Given the description of an element on the screen output the (x, y) to click on. 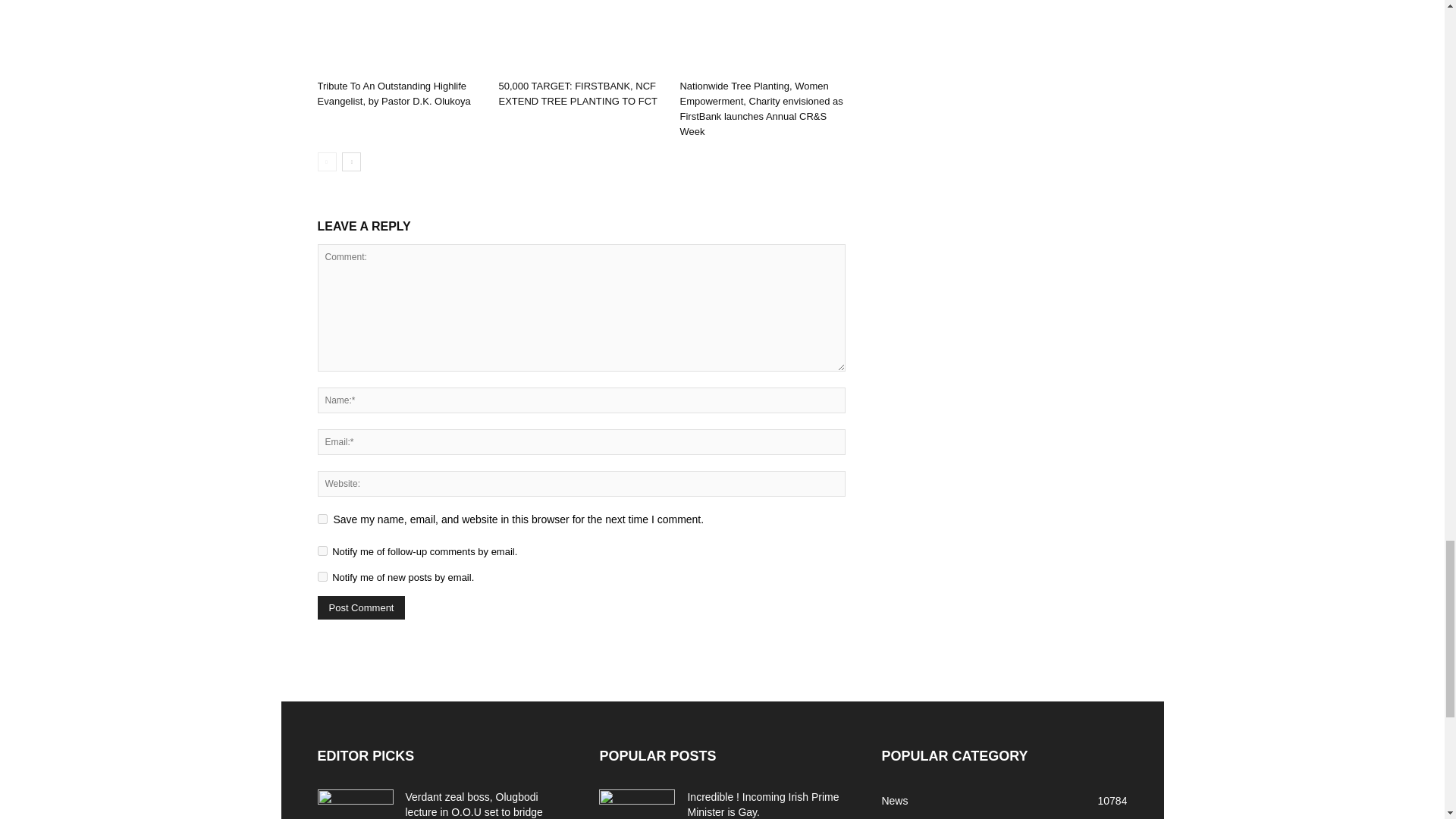
yes (321, 519)
Post Comment (360, 607)
subscribe (321, 576)
subscribe (321, 551)
